Given the description of an element on the screen output the (x, y) to click on. 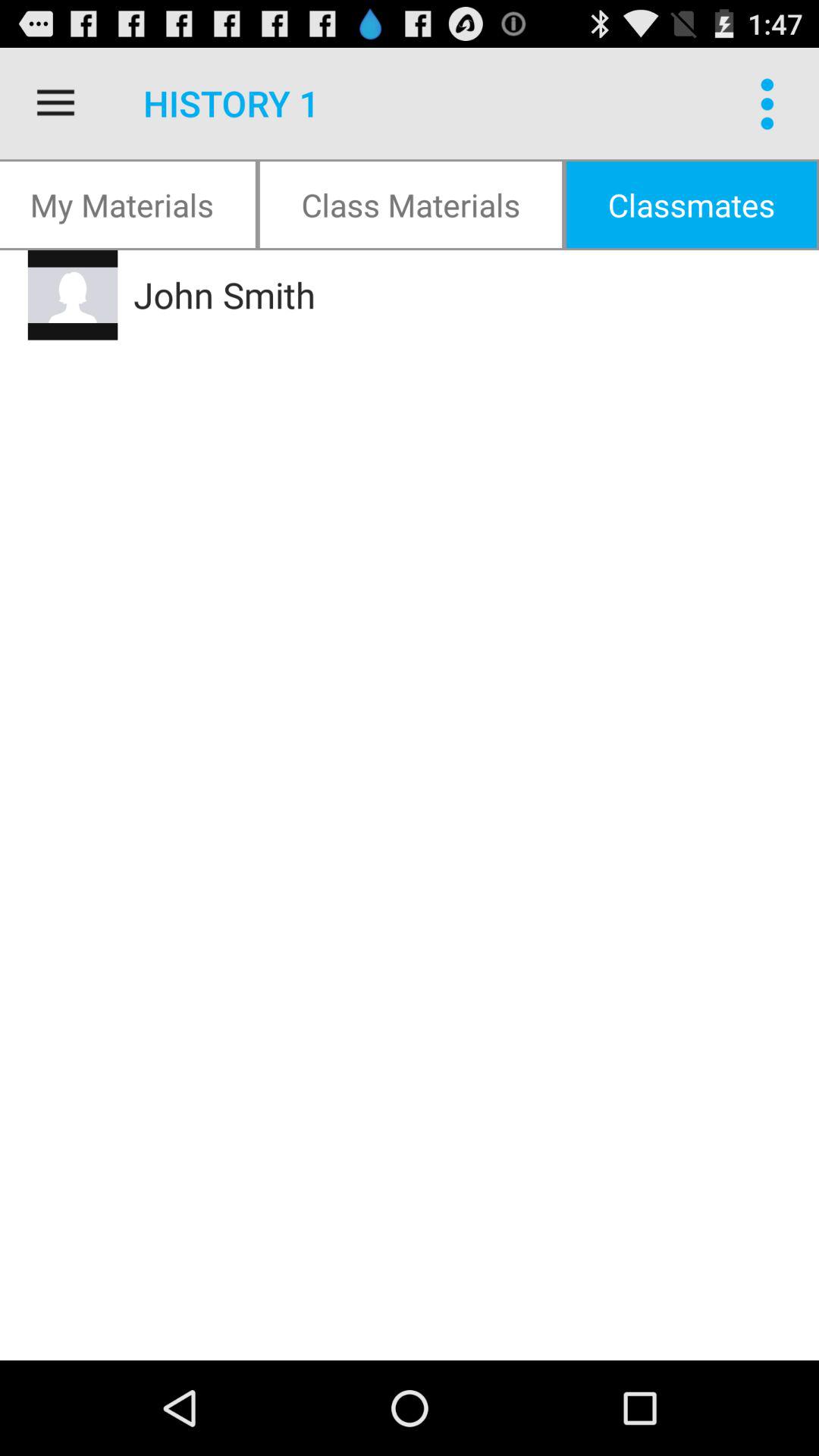
click the icon above the john smith (410, 204)
